Given the description of an element on the screen output the (x, y) to click on. 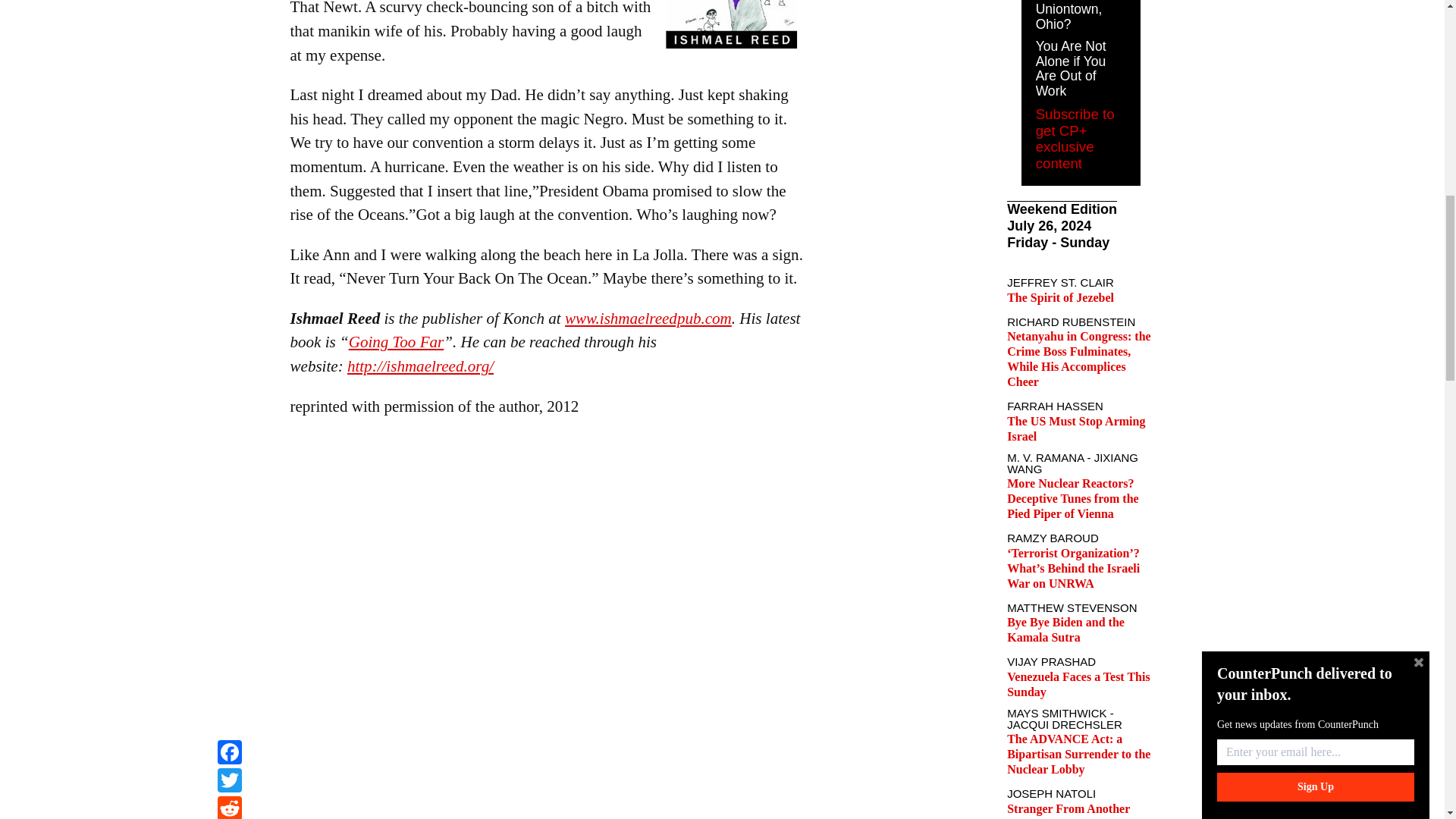
Going Too Far (396, 341)
www.ishmaelreedpub.com (648, 318)
What is the EPA Hiding at the Landfill in Uniontown, Ohio? (1075, 15)
reedgoing (730, 28)
Email (229, 18)
Reddit (229, 2)
Reddit (229, 2)
Email (229, 18)
You Are Not Alone if You Are Out of Work (1070, 68)
